Given the description of an element on the screen output the (x, y) to click on. 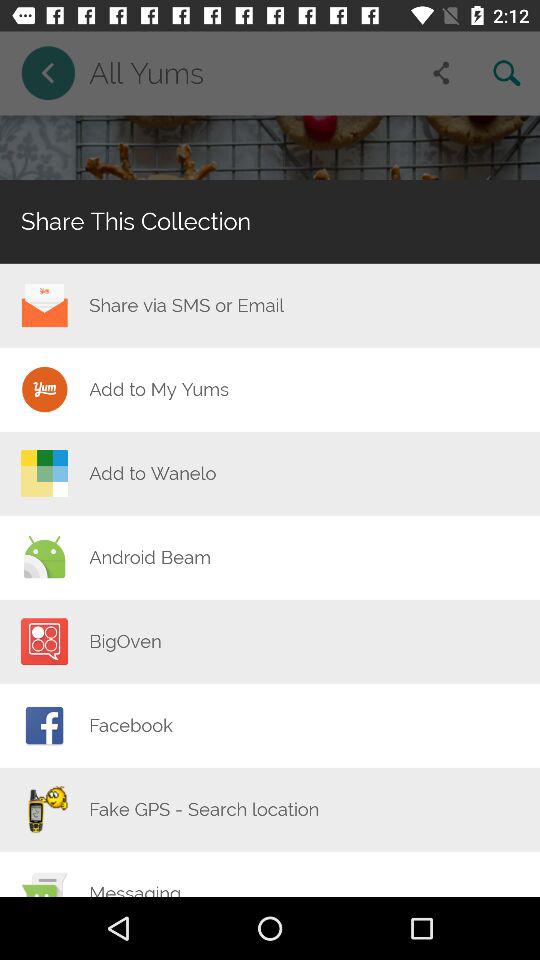
open the facebook item (130, 725)
